Given the description of an element on the screen output the (x, y) to click on. 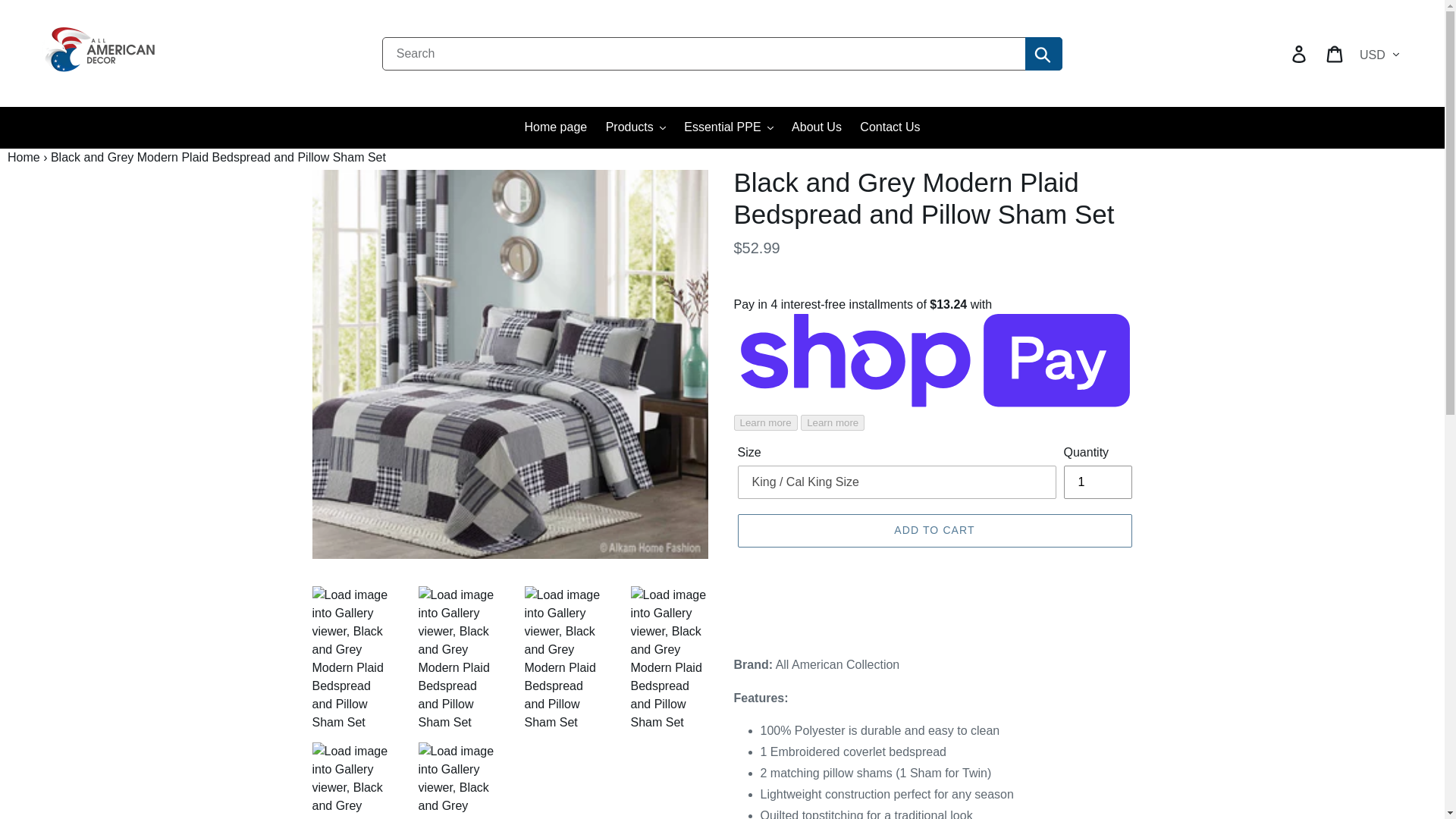
1 (1096, 482)
Log in (1299, 52)
Home (23, 156)
Submit (1043, 52)
Cart (1335, 52)
